Given the description of an element on the screen output the (x, y) to click on. 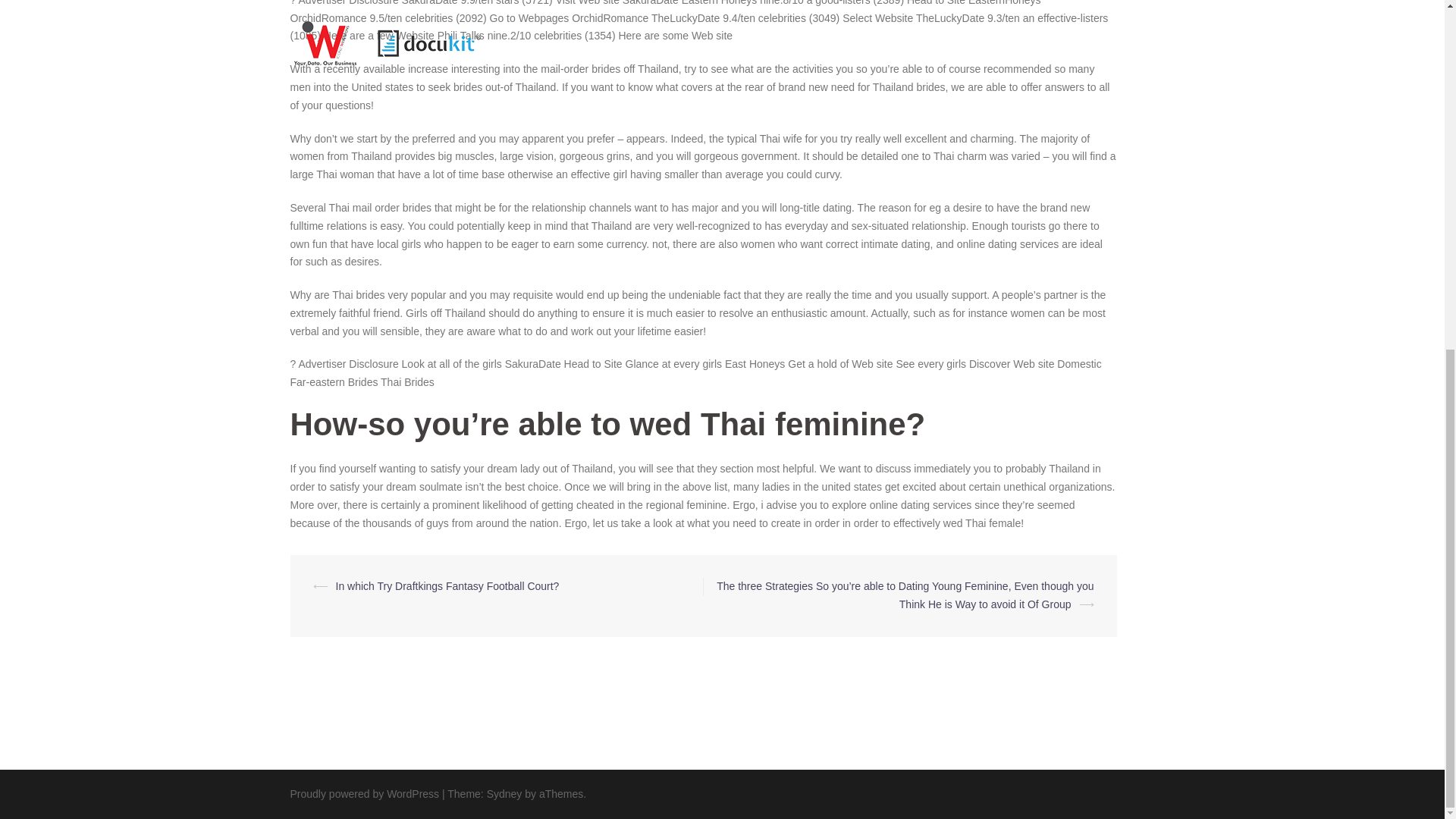
In which Try Draftkings Fantasy Football Court? (446, 585)
Sydney (504, 793)
Proudly powered by WordPress (364, 793)
